Given the description of an element on the screen output the (x, y) to click on. 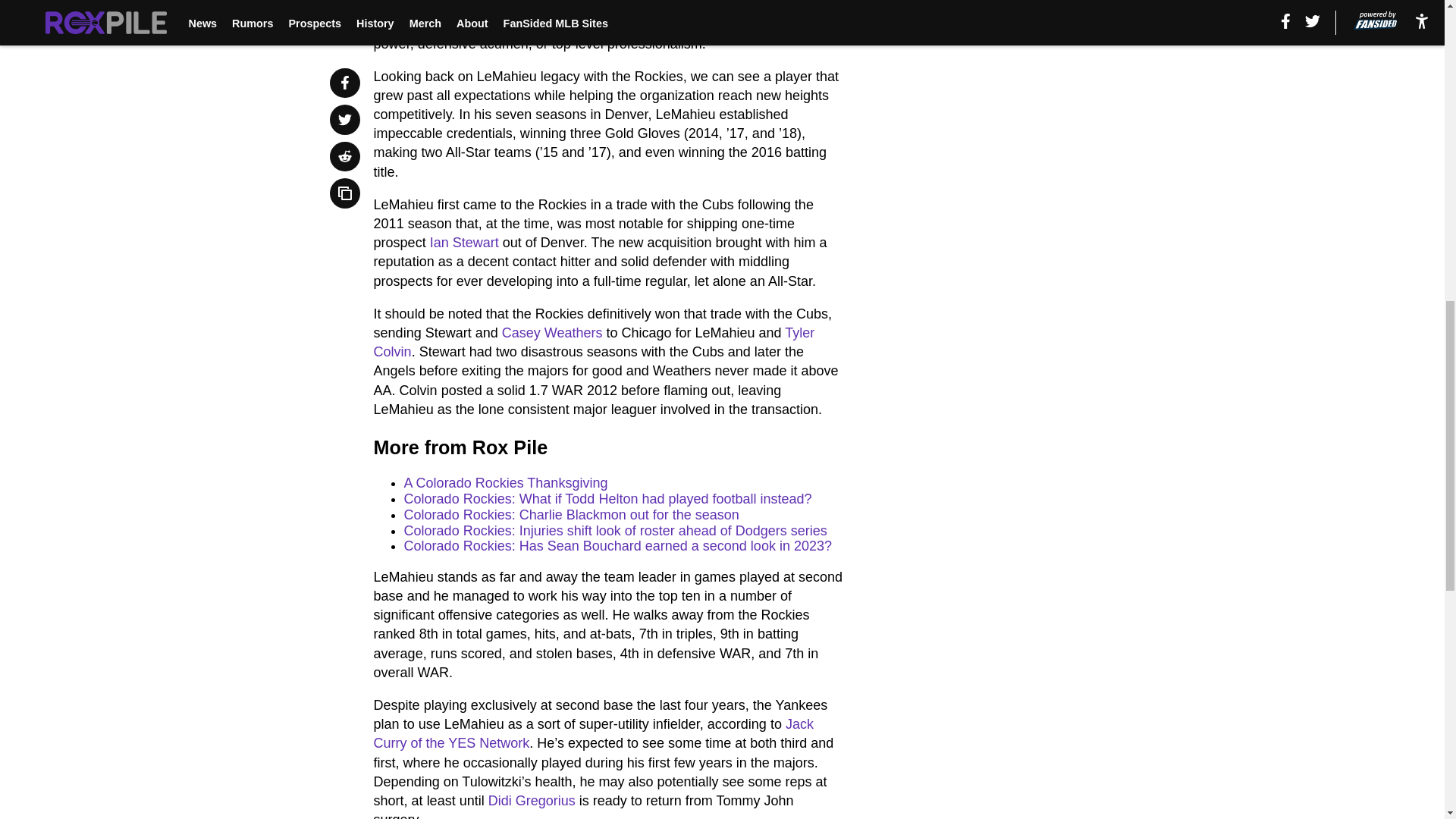
A Colorado Rockies Thanksgiving (506, 482)
Casey Weathers (552, 332)
Ian Stewart (464, 242)
Troy Tulowitzki (601, 15)
Colorado Rockies: Charlie Blackmon out for the season (571, 514)
Tyler Colvin (594, 342)
Jack Curry of the YES Network (593, 733)
